Given the description of an element on the screen output the (x, y) to click on. 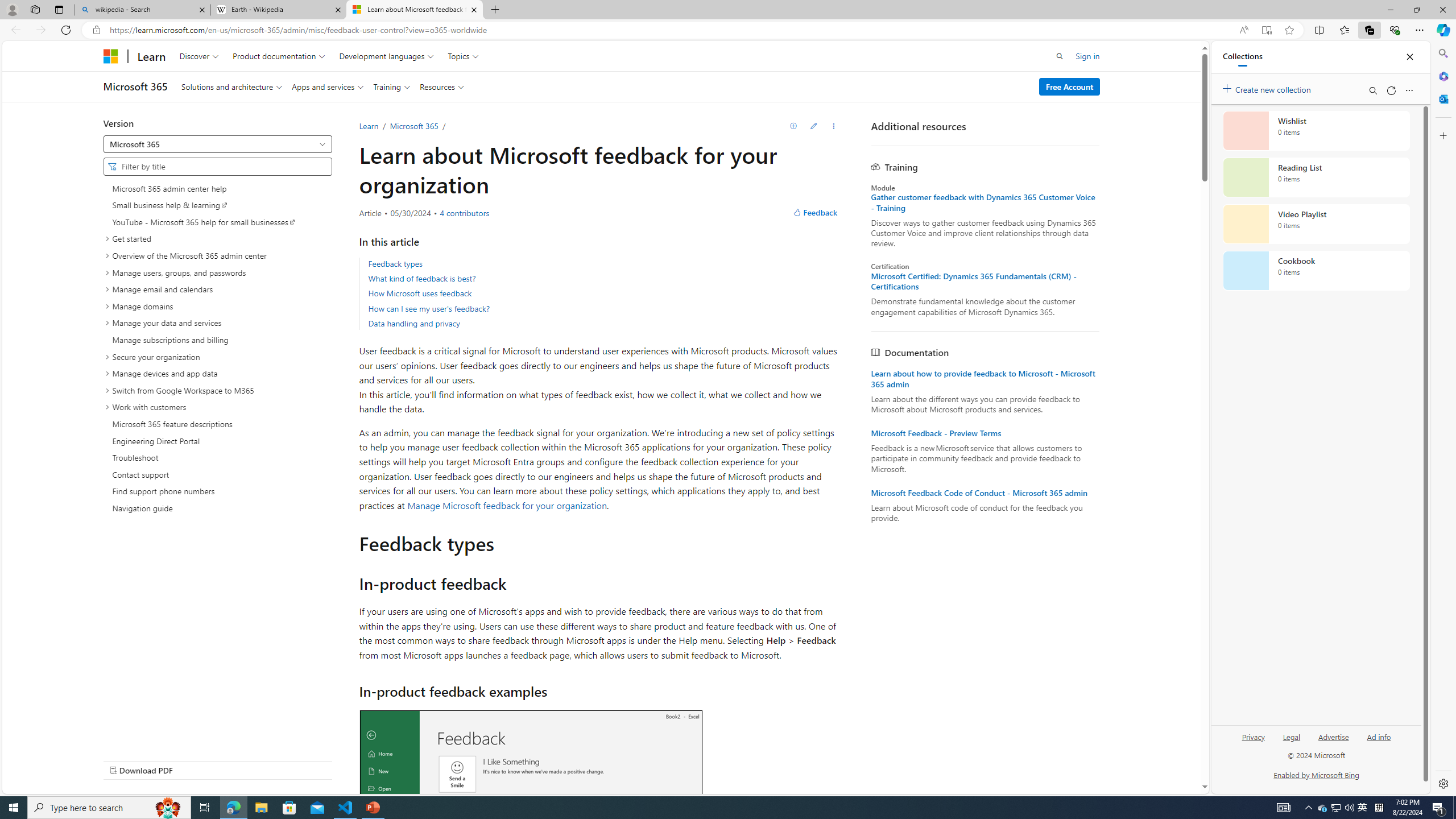
App bar (728, 29)
Workspaces (34, 9)
Privacy (1252, 741)
wikipedia - Search (142, 9)
Product documentation (278, 55)
Open search (1059, 55)
Solutions and architecture (231, 86)
Development languages (386, 55)
Restore (1416, 9)
Solutions and architecture (231, 86)
How can I see my user's feedback? (428, 307)
Add this page to favorites (Ctrl+D) (1289, 29)
